Given the description of an element on the screen output the (x, y) to click on. 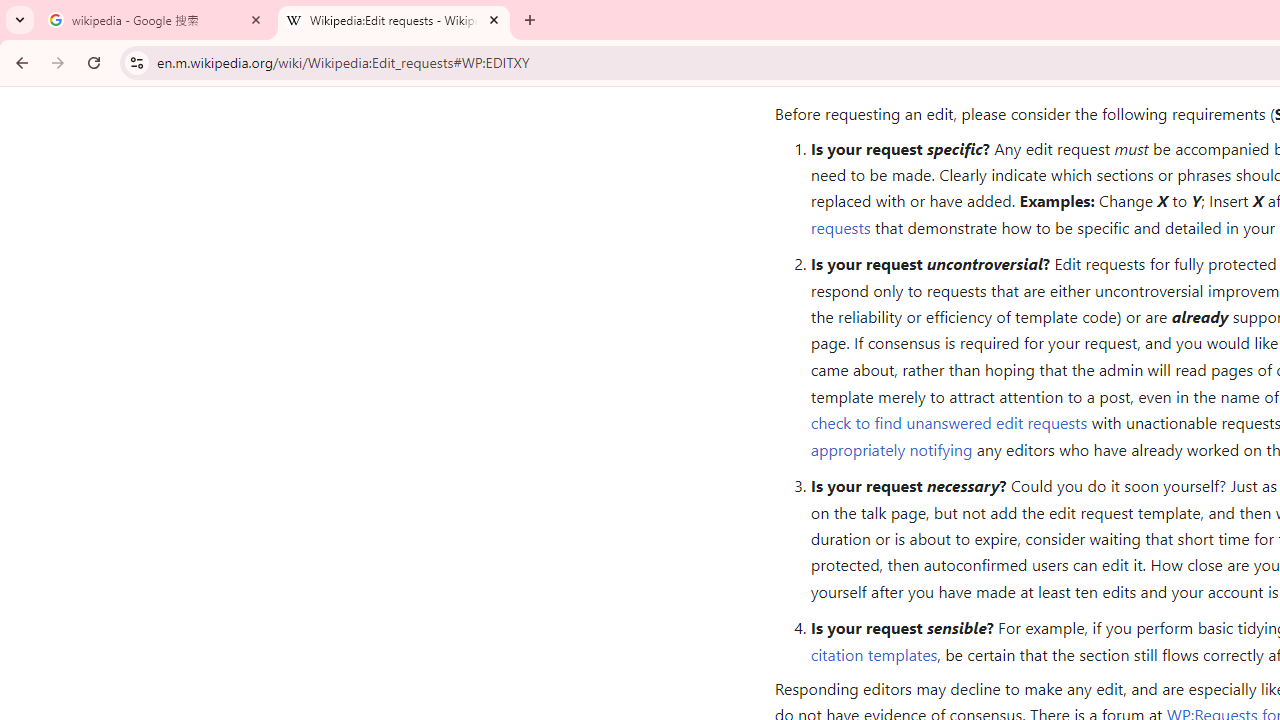
Search tabs (20, 20)
citation templates (874, 653)
New Tab (529, 20)
View site information (136, 62)
Wikipedia:Edit requests - Wikipedia (394, 20)
Reload (93, 62)
appropriately notifying (891, 448)
Close (494, 19)
Forward (57, 62)
Back (19, 62)
